Given the description of an element on the screen output the (x, y) to click on. 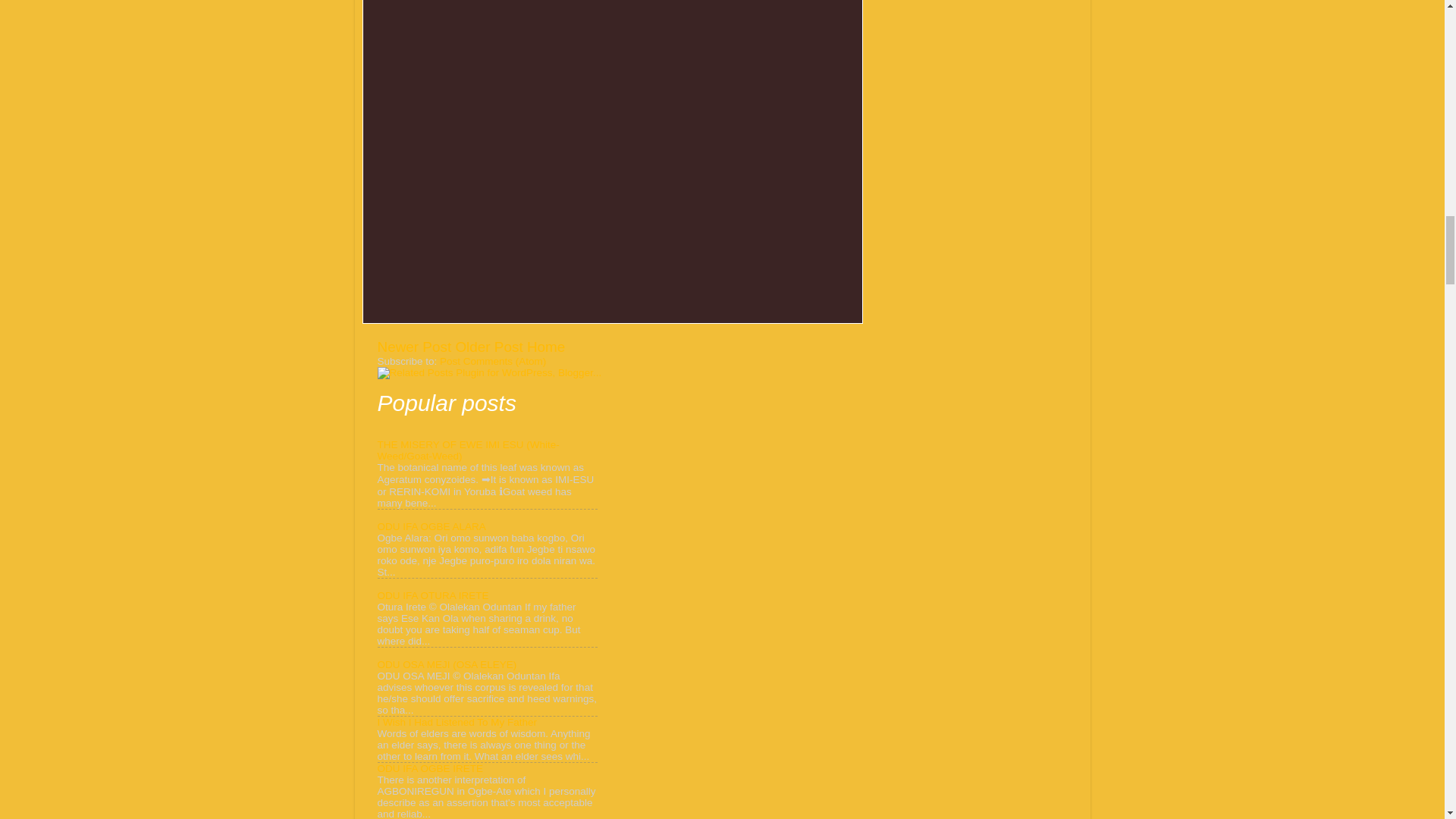
Home (545, 346)
ODU IFA OGBE ALARA (431, 526)
Newer Post (414, 346)
ODU IFA OTURA IRETE (433, 595)
ODU IFA OGBE IRETE (430, 767)
I Wish I Had Listened To My Father (457, 722)
Older Post (488, 346)
Older Post (488, 346)
Newer Post (414, 346)
